Given the description of an element on the screen output the (x, y) to click on. 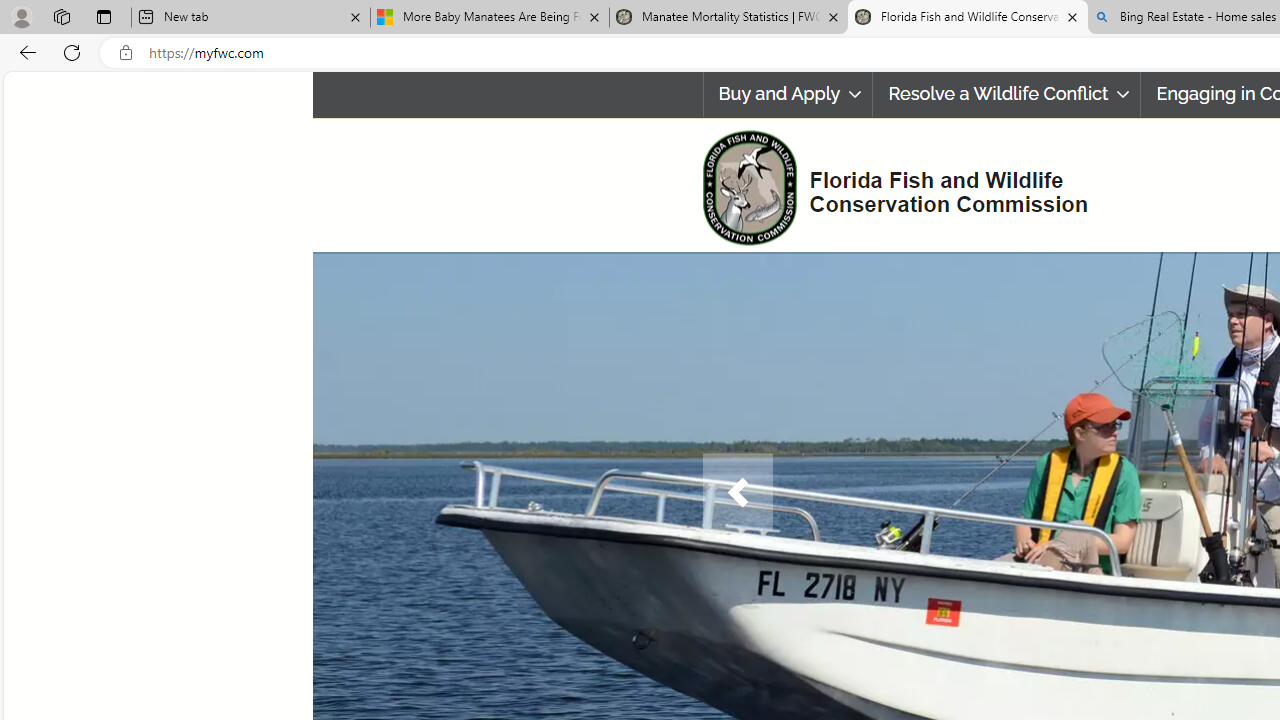
View site information (125, 53)
Tab actions menu (104, 16)
Refresh (72, 52)
